Given the description of an element on the screen output the (x, y) to click on. 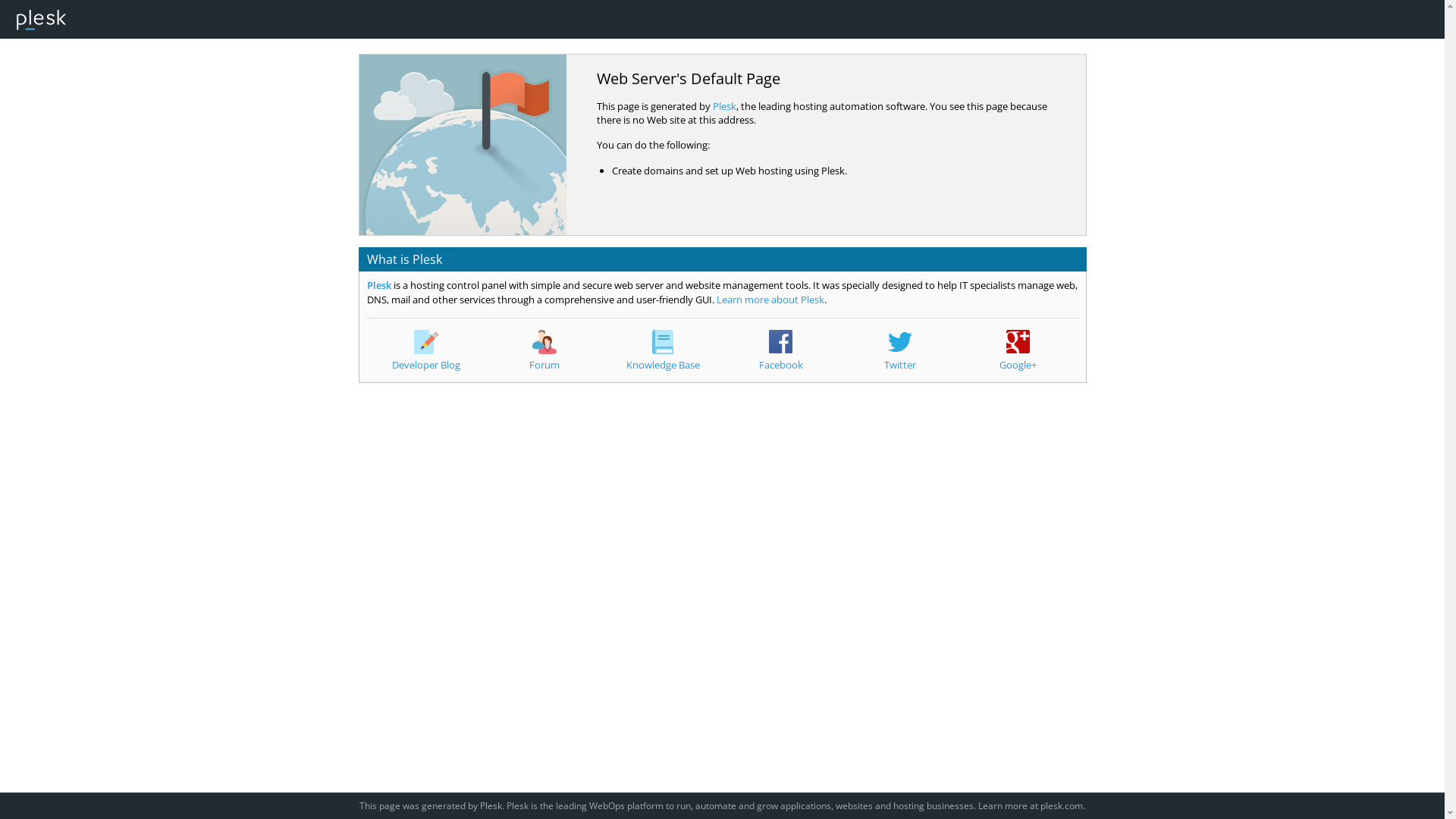
Developer Blog Element type: text (426, 350)
Plesk Element type: text (724, 105)
Google+ Element type: text (1017, 350)
Twitter Element type: text (900, 350)
Facebook Element type: text (781, 350)
plesk.com Element type: text (1061, 805)
Plesk Element type: text (379, 284)
Learn more about Plesk Element type: text (769, 299)
Forum Element type: text (544, 350)
Knowledge Base Element type: text (662, 350)
